Given the description of an element on the screen output the (x, y) to click on. 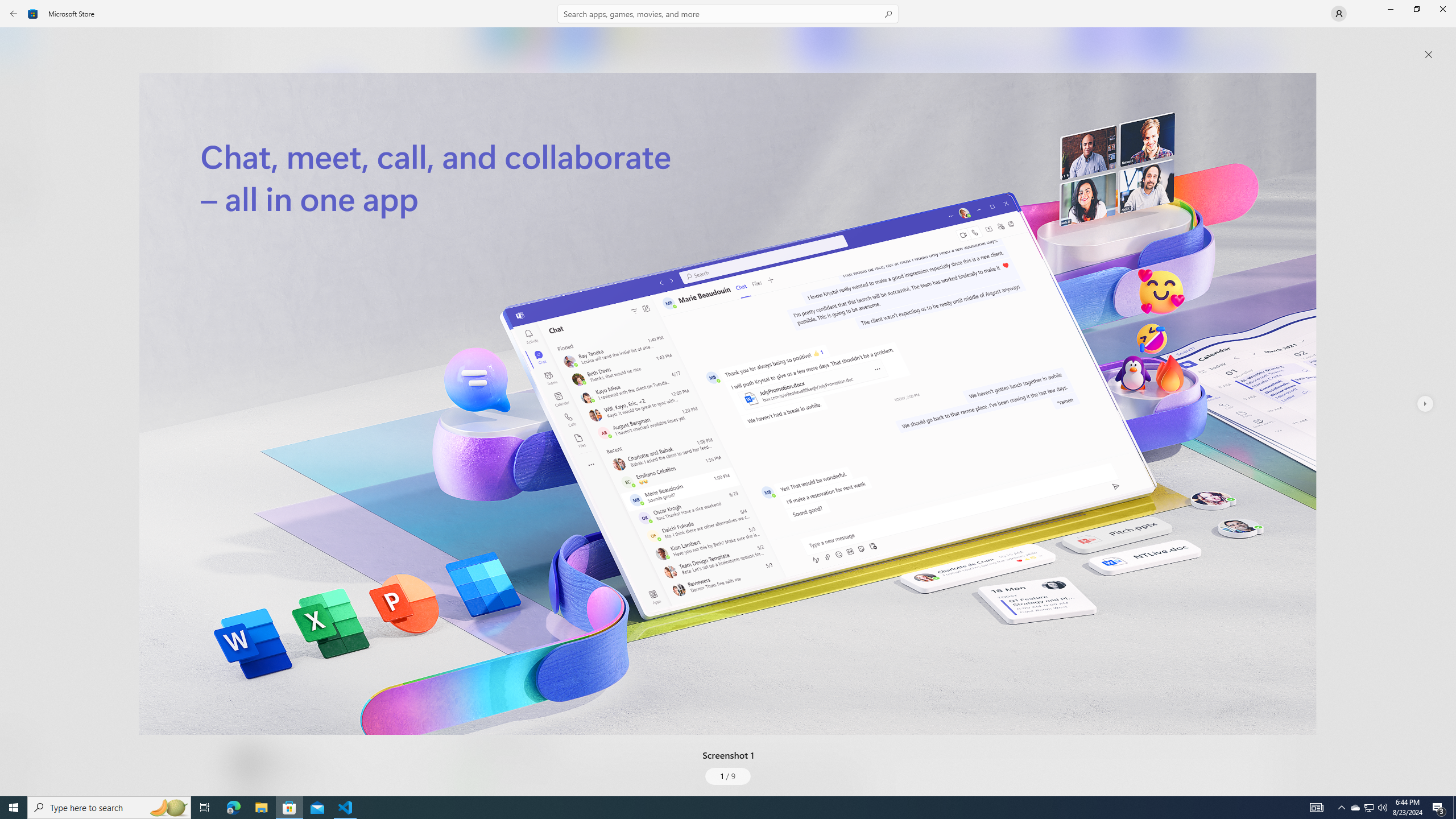
What's New (20, 738)
Age rating: EVERYONE. Click for more information. (287, 762)
Home (20, 45)
Screenshot 1 (727, 403)
Show all ratings and reviews (1253, 281)
Back (13, 13)
Arcade (20, 150)
Install (334, 244)
Productivity (329, 426)
Gaming (20, 115)
Class: Image (727, 403)
2.6 stars. Click to skip to ratings and reviews (307, 309)
Show more (485, 793)
AutomationID: NavigationControl (728, 398)
Apps (20, 80)
